Given the description of an element on the screen output the (x, y) to click on. 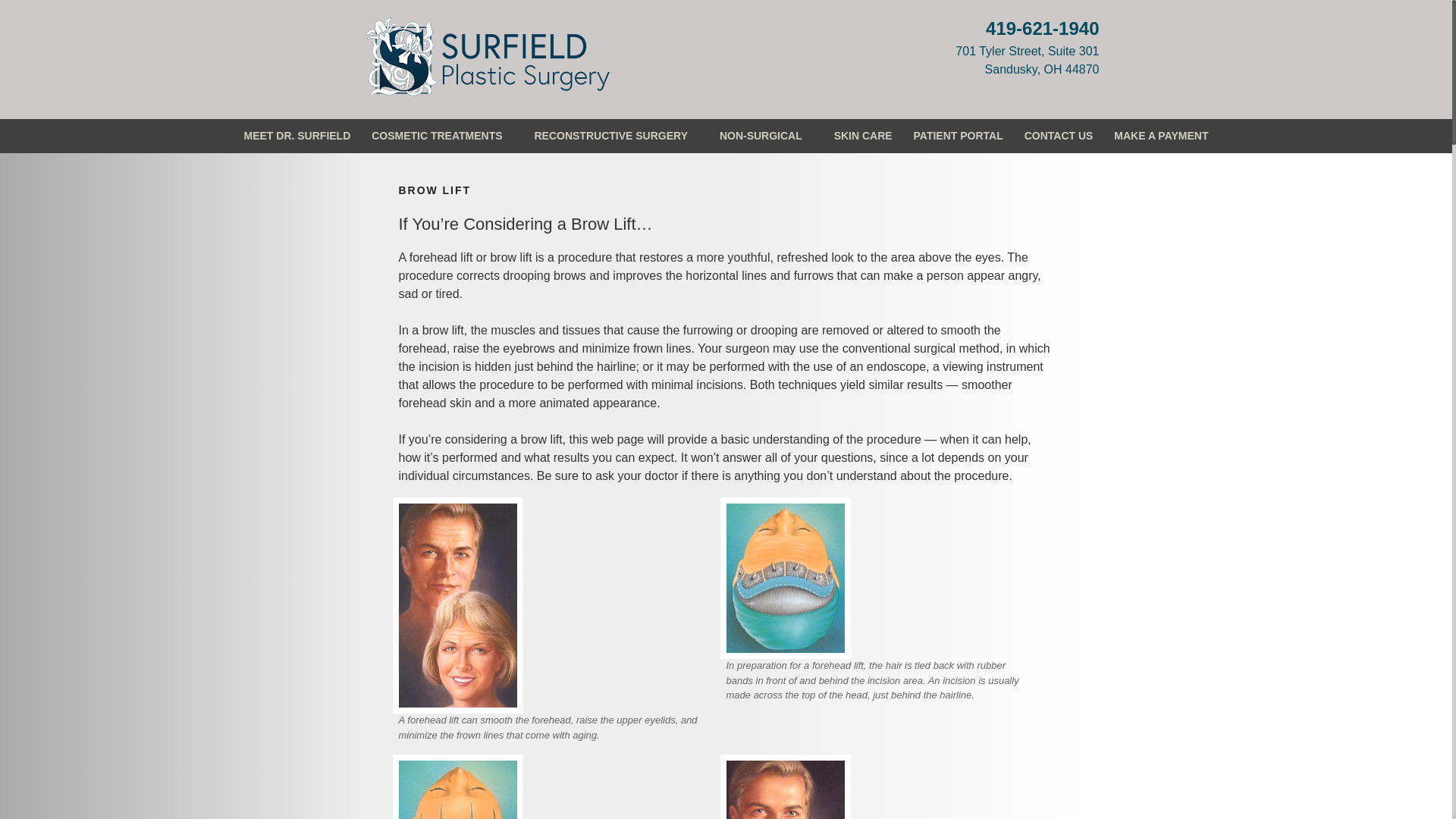
COSMETIC TREATMENTS (441, 135)
419-621-1940 (1042, 28)
RECONSTRUCTIVE SURGERY (615, 135)
 Make a Payment  (65, 15)
MEET DR. SURFIELD (296, 135)
